Given the description of an element on the screen output the (x, y) to click on. 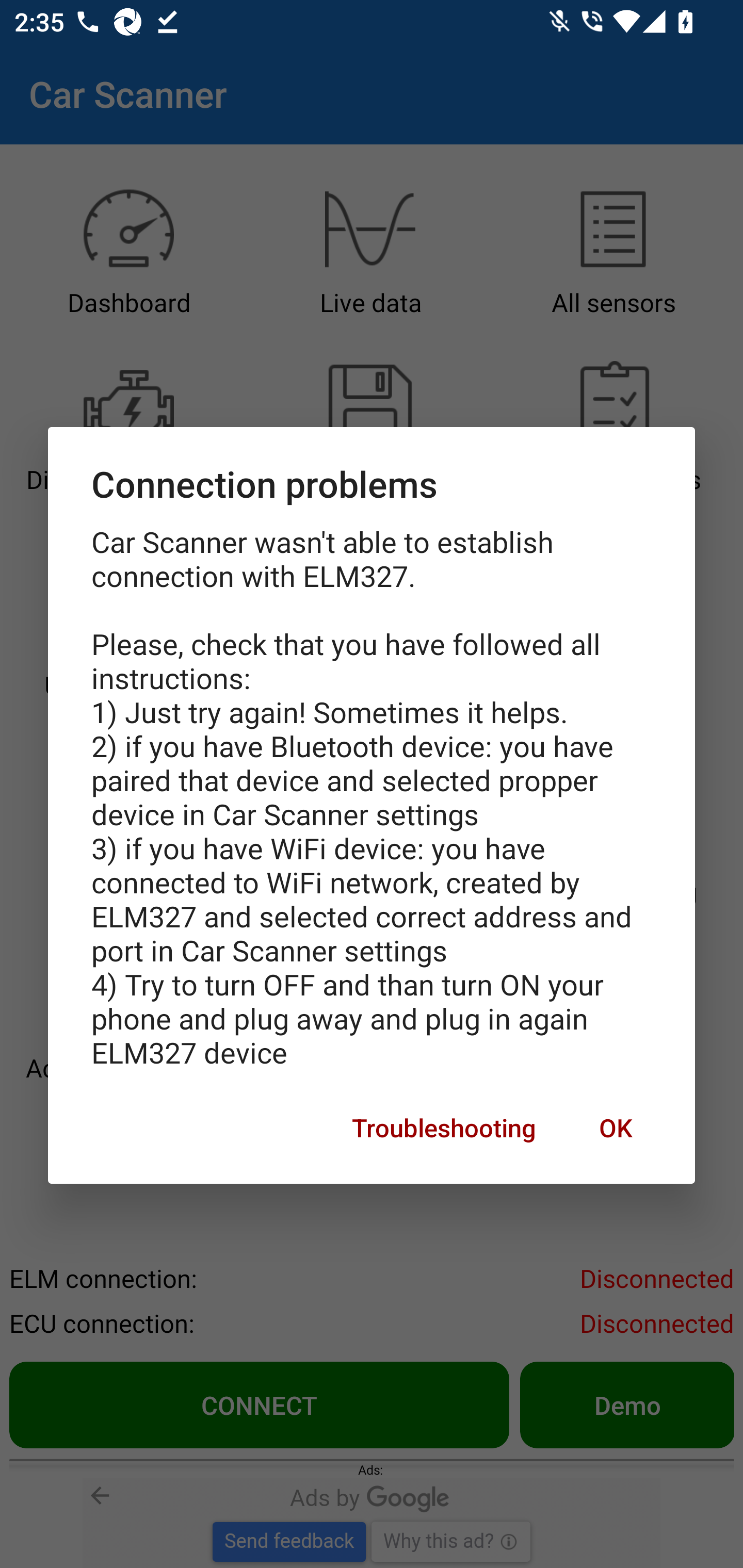
Troubleshooting (443, 1127)
OK (615, 1127)
